Given the description of an element on the screen output the (x, y) to click on. 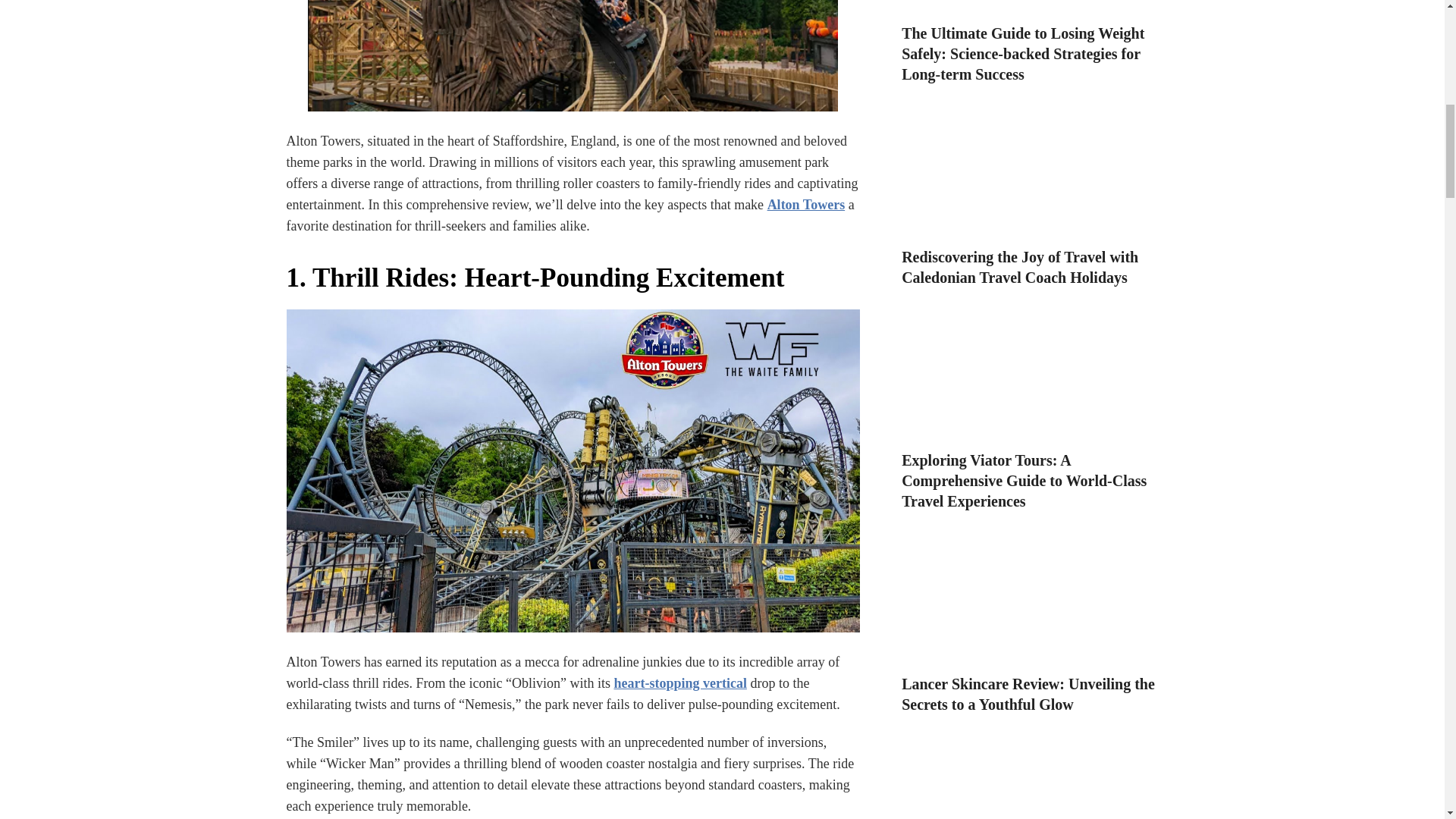
Alton Towers (806, 204)
heart-stopping vertical (678, 683)
